Given the description of an element on the screen output the (x, y) to click on. 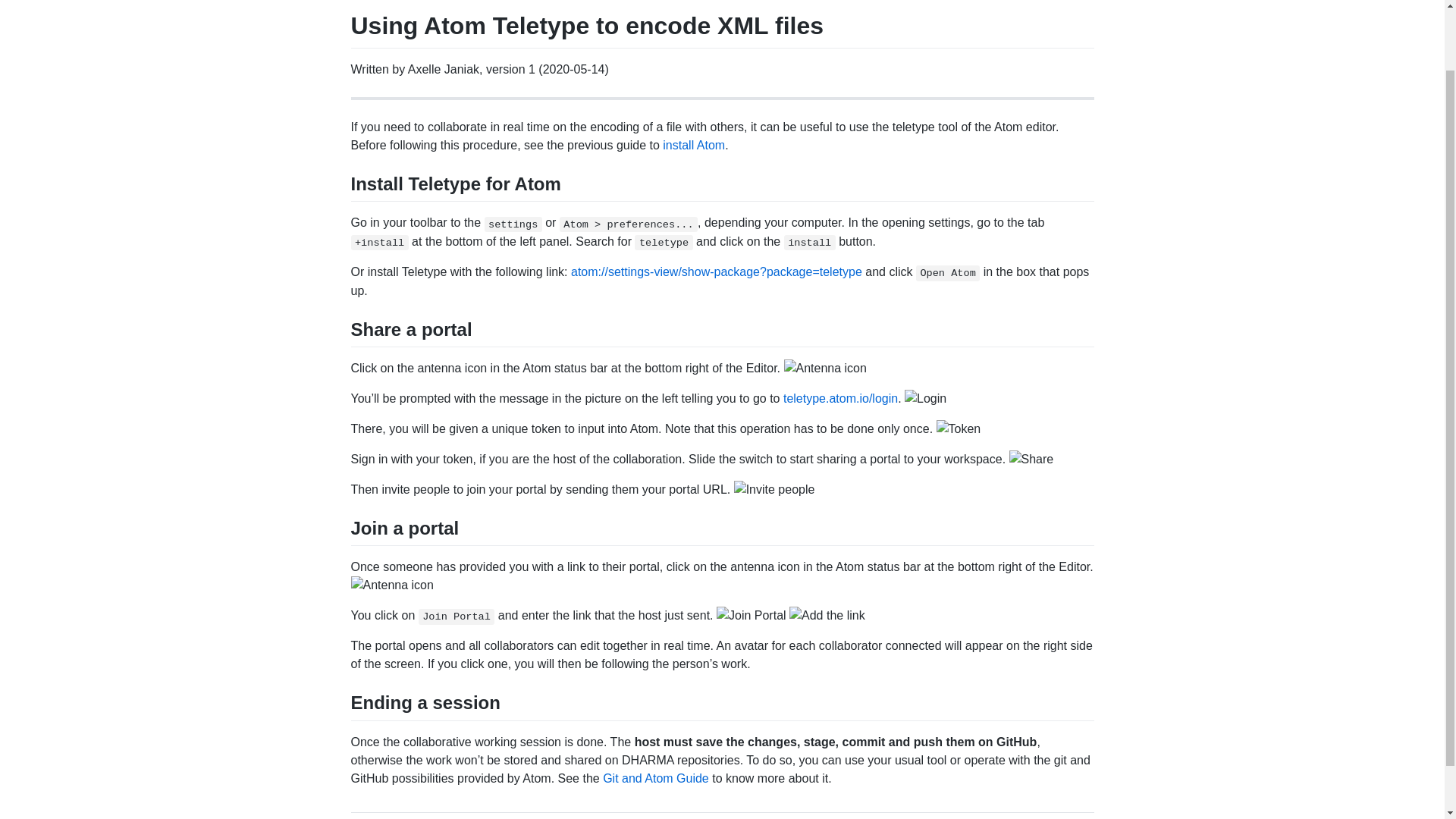
Git and Atom Guide (655, 777)
install Atom (693, 144)
